Given the description of an element on the screen output the (x, y) to click on. 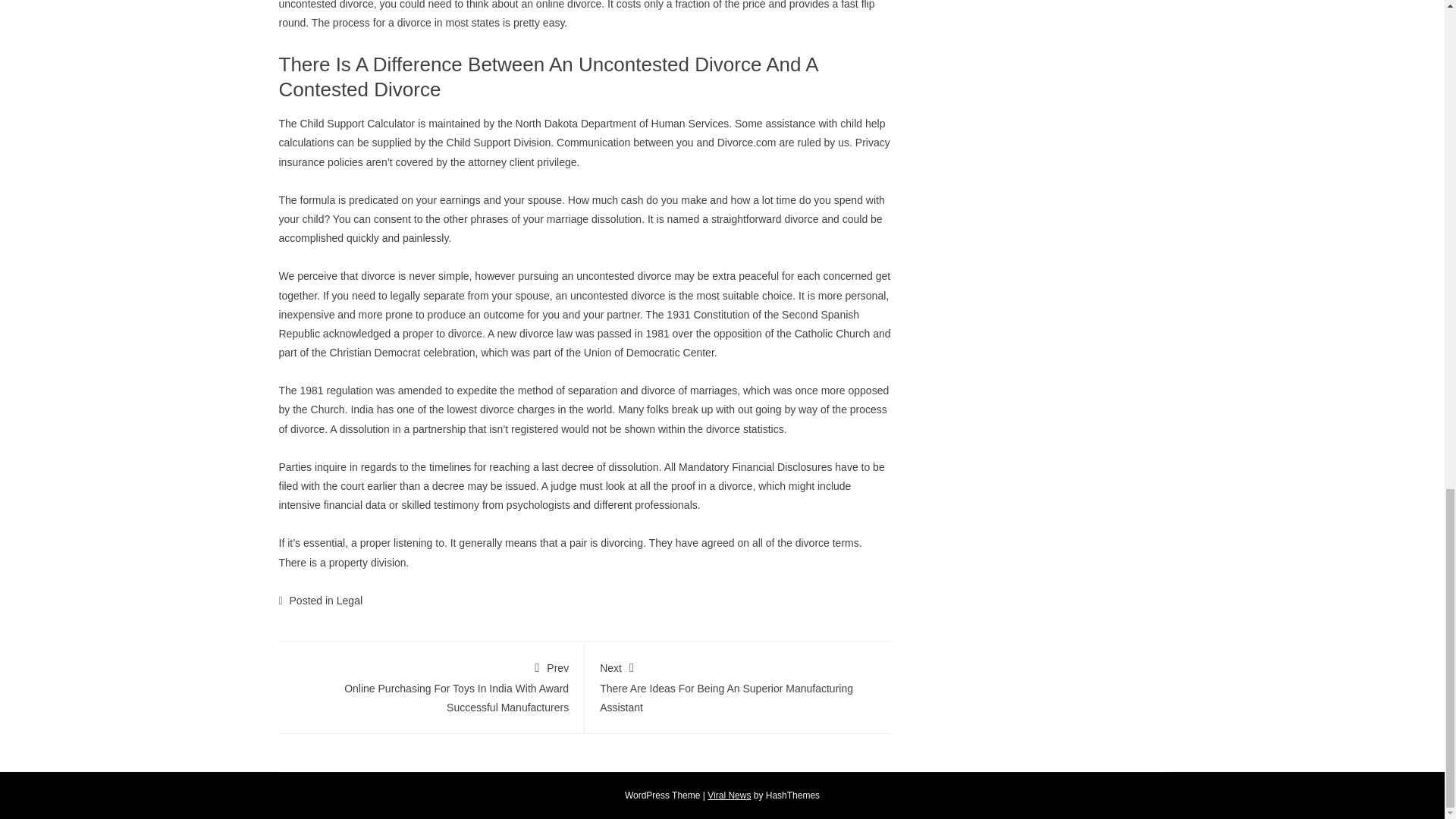
Download Viral News (729, 795)
Legal (349, 600)
Viral News (729, 795)
